Given the description of an element on the screen output the (x, y) to click on. 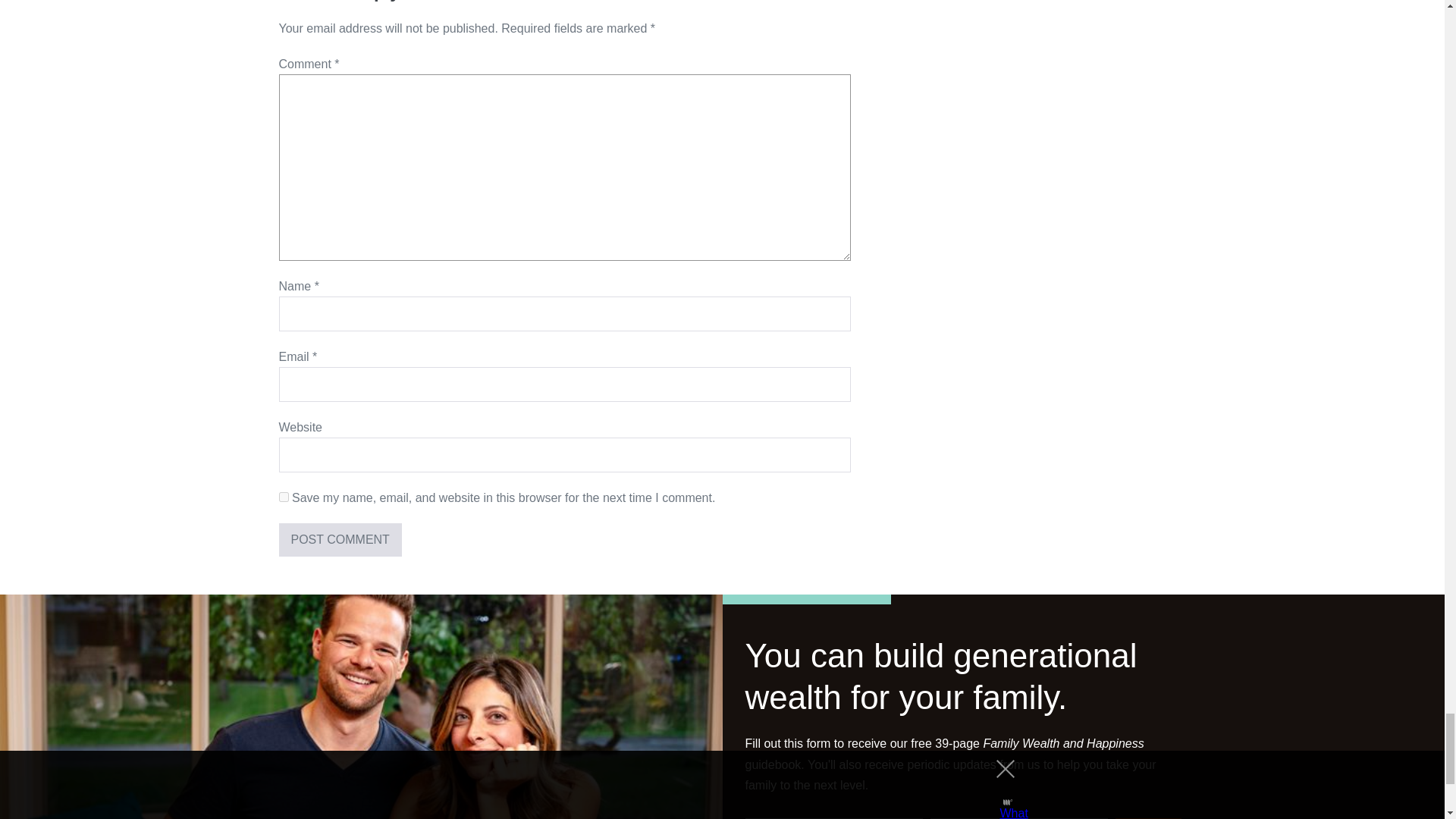
Post Comment (340, 539)
yes (283, 497)
